Given the description of an element on the screen output the (x, y) to click on. 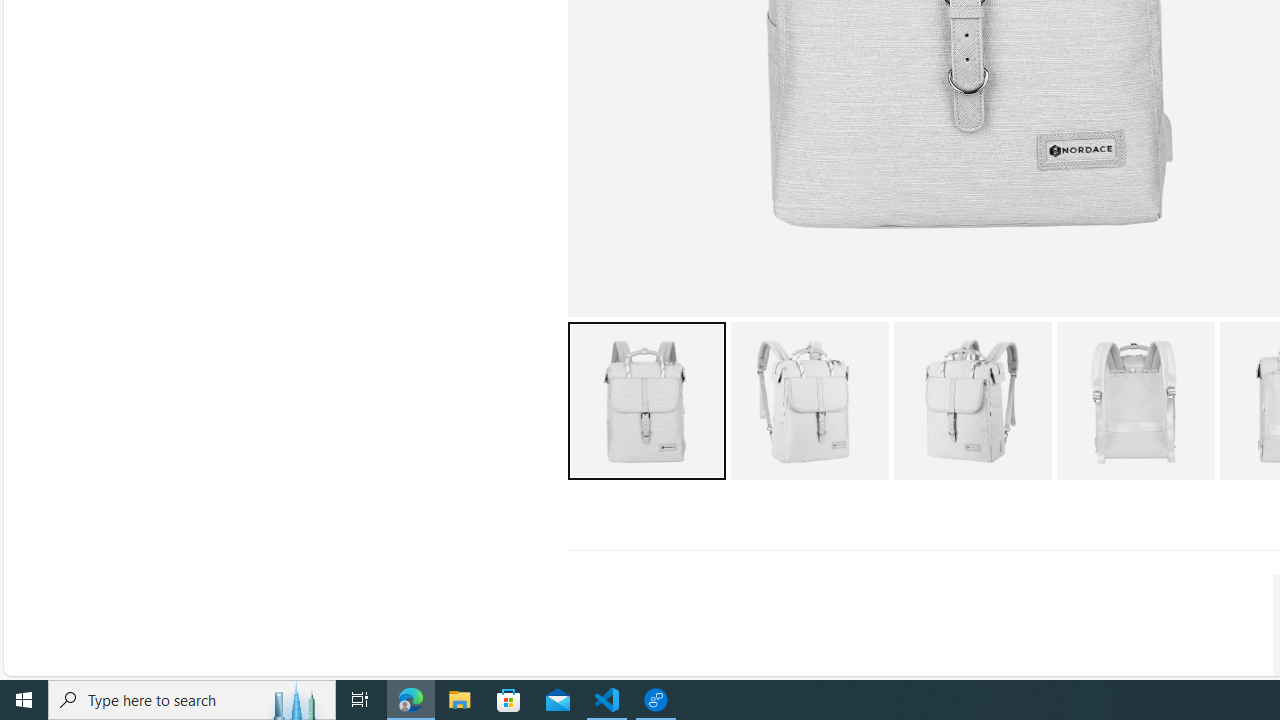
Nordace Comino Totepack (1135, 400)
